Given the description of an element on the screen output the (x, y) to click on. 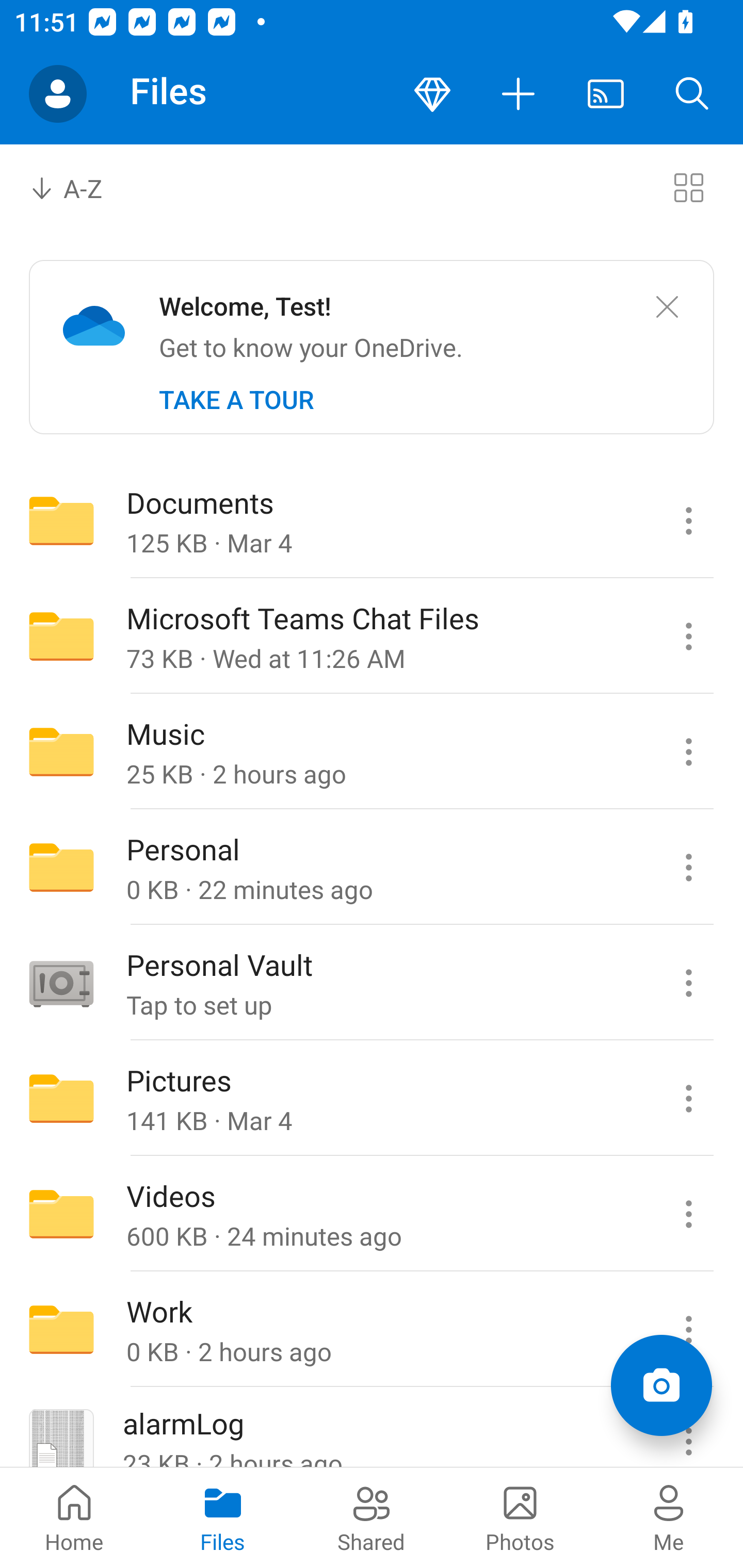
Account switcher (57, 93)
Cast. Disconnected (605, 93)
Premium button (432, 93)
More actions button (518, 93)
Search button (692, 93)
A-Z Sort by combo box, sort by name, A to Z (80, 187)
Switch to tiles view (688, 187)
Close (667, 307)
TAKE A TOUR (236, 399)
Folder Documents 125 KB · Mar 4 Documents commands (371, 520)
Documents commands (688, 520)
Microsoft Teams Chat Files commands (688, 636)
Folder Music 25 KB · 2 hours ago Music commands (371, 751)
Music commands (688, 751)
Personal commands (688, 867)
Personal Vault commands (688, 983)
Folder Pictures 141 KB · Mar 4 Pictures commands (371, 1099)
Pictures commands (688, 1099)
Videos commands (688, 1214)
Folder Work 0 KB · 2 hours ago Work commands (371, 1329)
Work commands (688, 1329)
Add items Scan (660, 1385)
alarmLog commands (688, 1427)
Home pivot Home (74, 1517)
Shared pivot Shared (371, 1517)
Photos pivot Photos (519, 1517)
Me pivot Me (668, 1517)
